Given the description of an element on the screen output the (x, y) to click on. 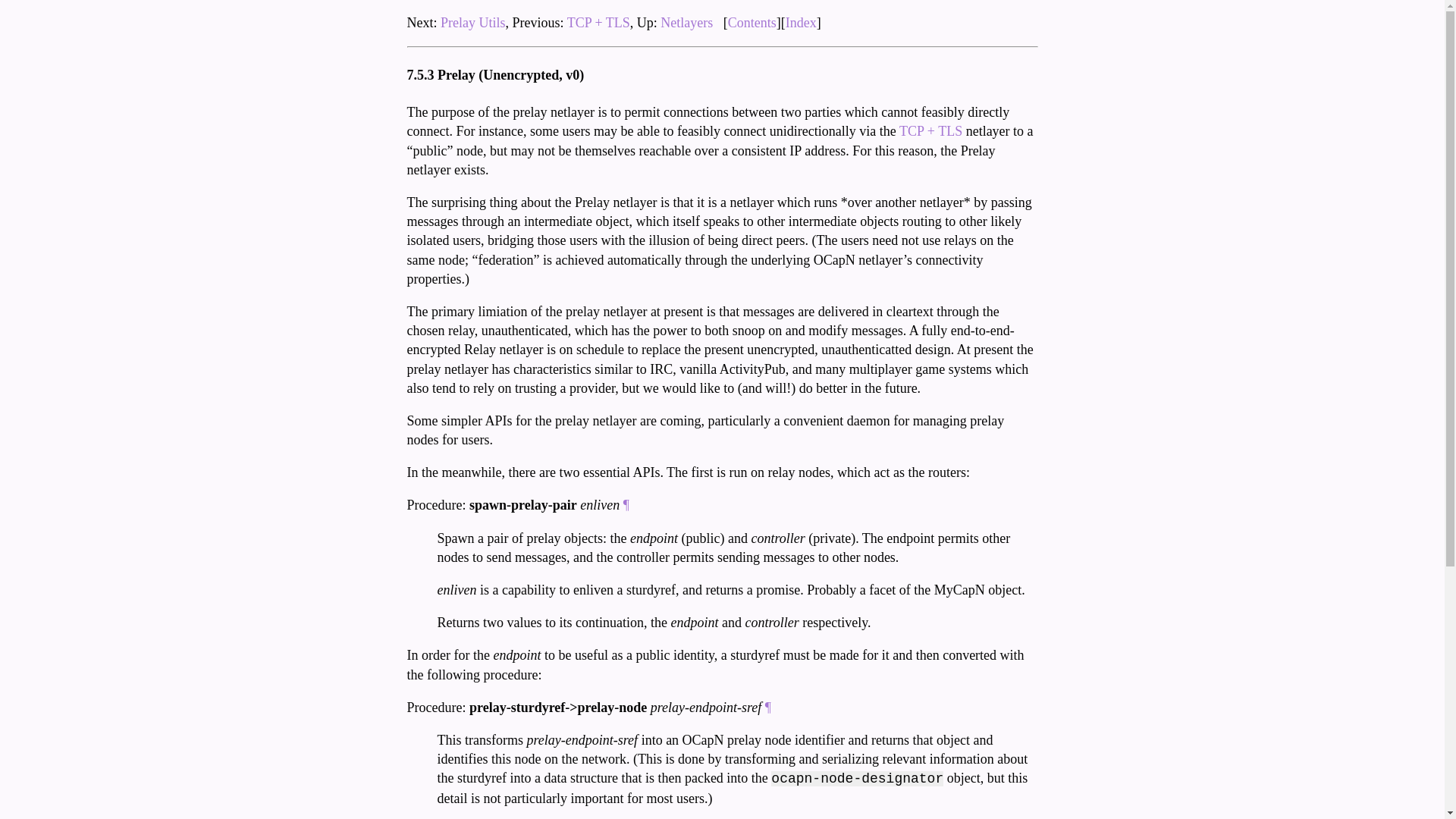
Prelay Utils (473, 22)
